Given the description of an element on the screen output the (x, y) to click on. 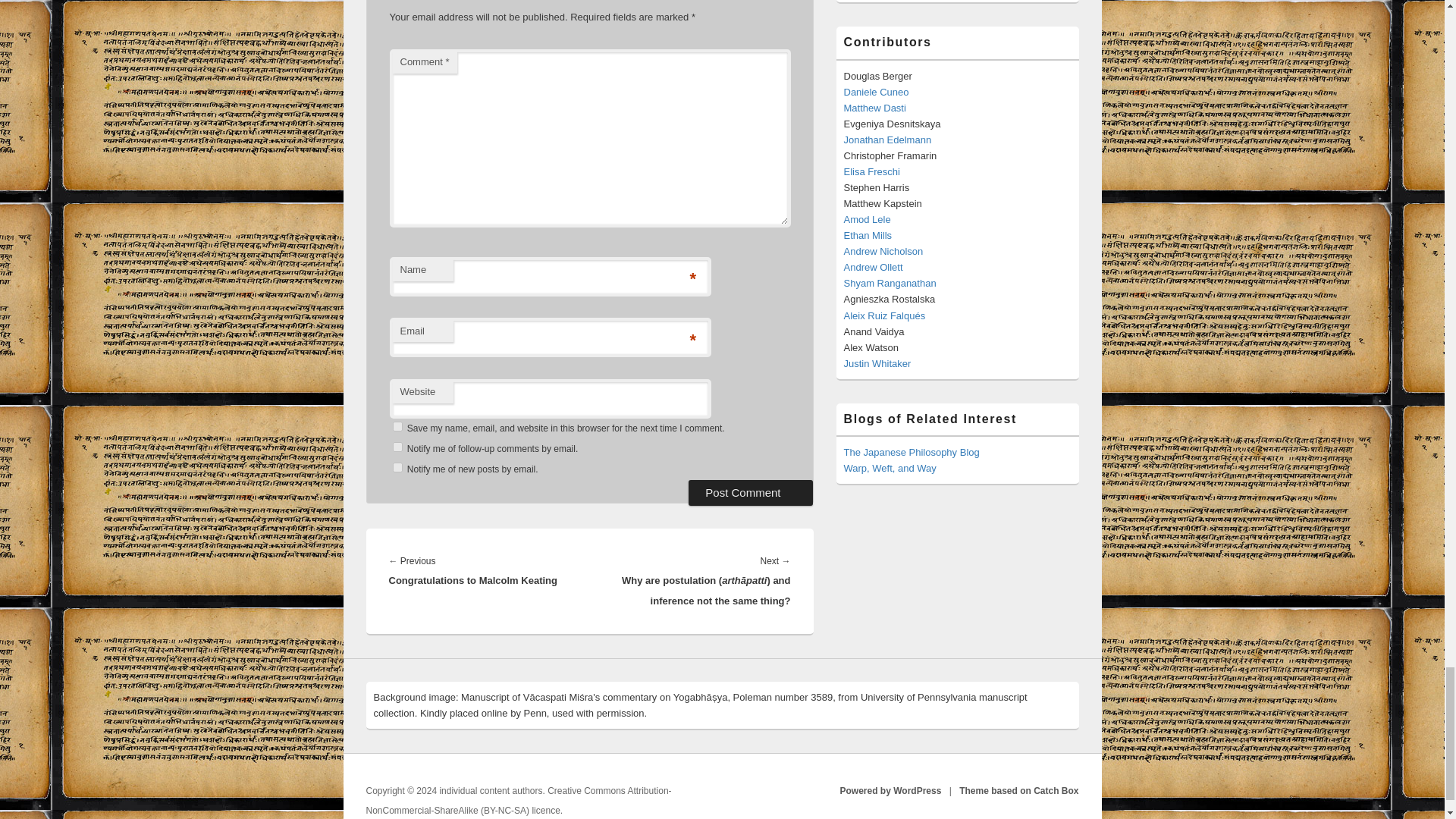
yes (398, 426)
subscribe (398, 467)
Theme Catch Box by Catch Themes (1018, 790)
Post Comment (750, 492)
Post Comment (750, 492)
subscribe (398, 447)
Powered by WordPress (891, 790)
